Given the description of an element on the screen output the (x, y) to click on. 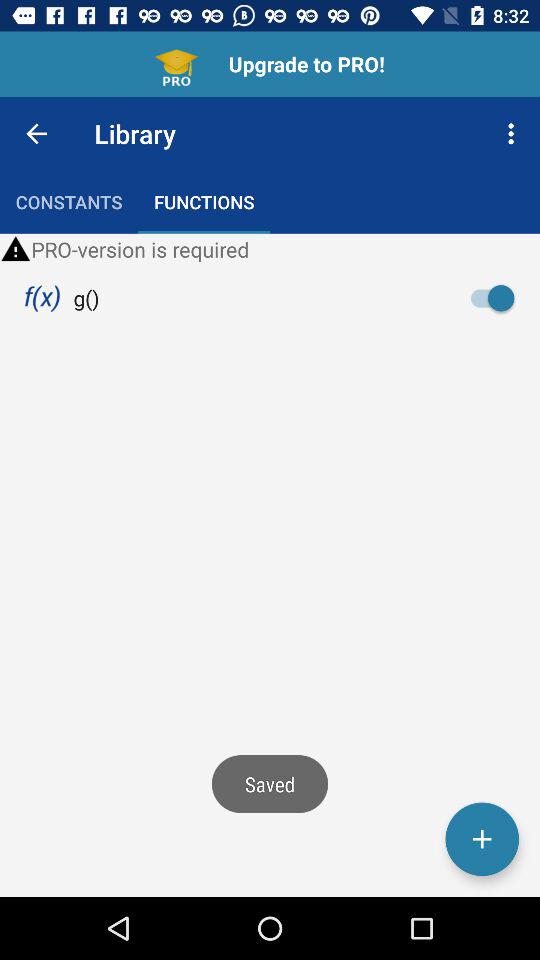
press the item to the left of the g() item (42, 298)
